Given the description of an element on the screen output the (x, y) to click on. 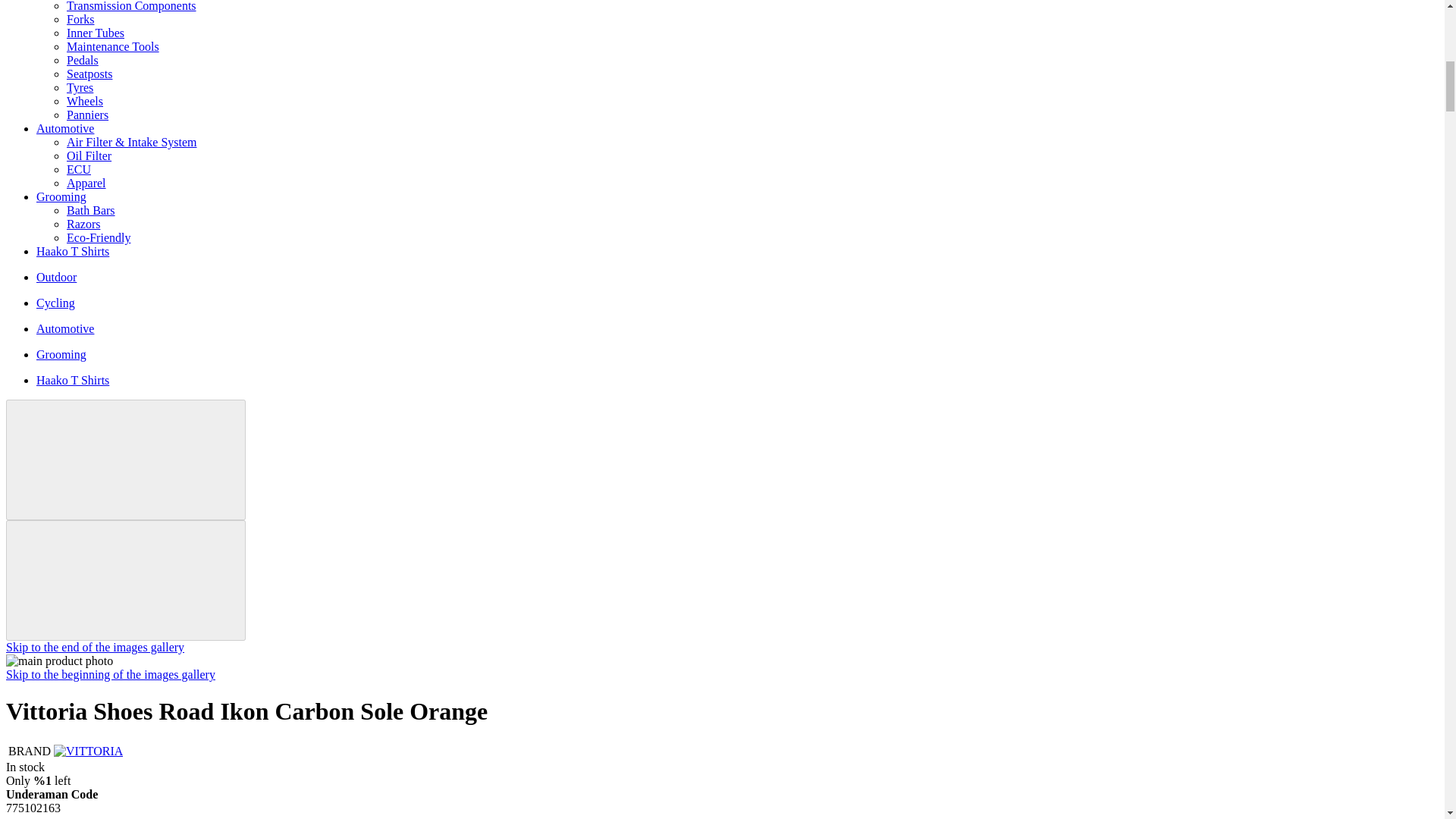
Transmission Components (131, 6)
Maintenance Tools (112, 46)
Inner Tubes (94, 32)
Pedals (82, 60)
Forks (80, 19)
